Given the description of an element on the screen output the (x, y) to click on. 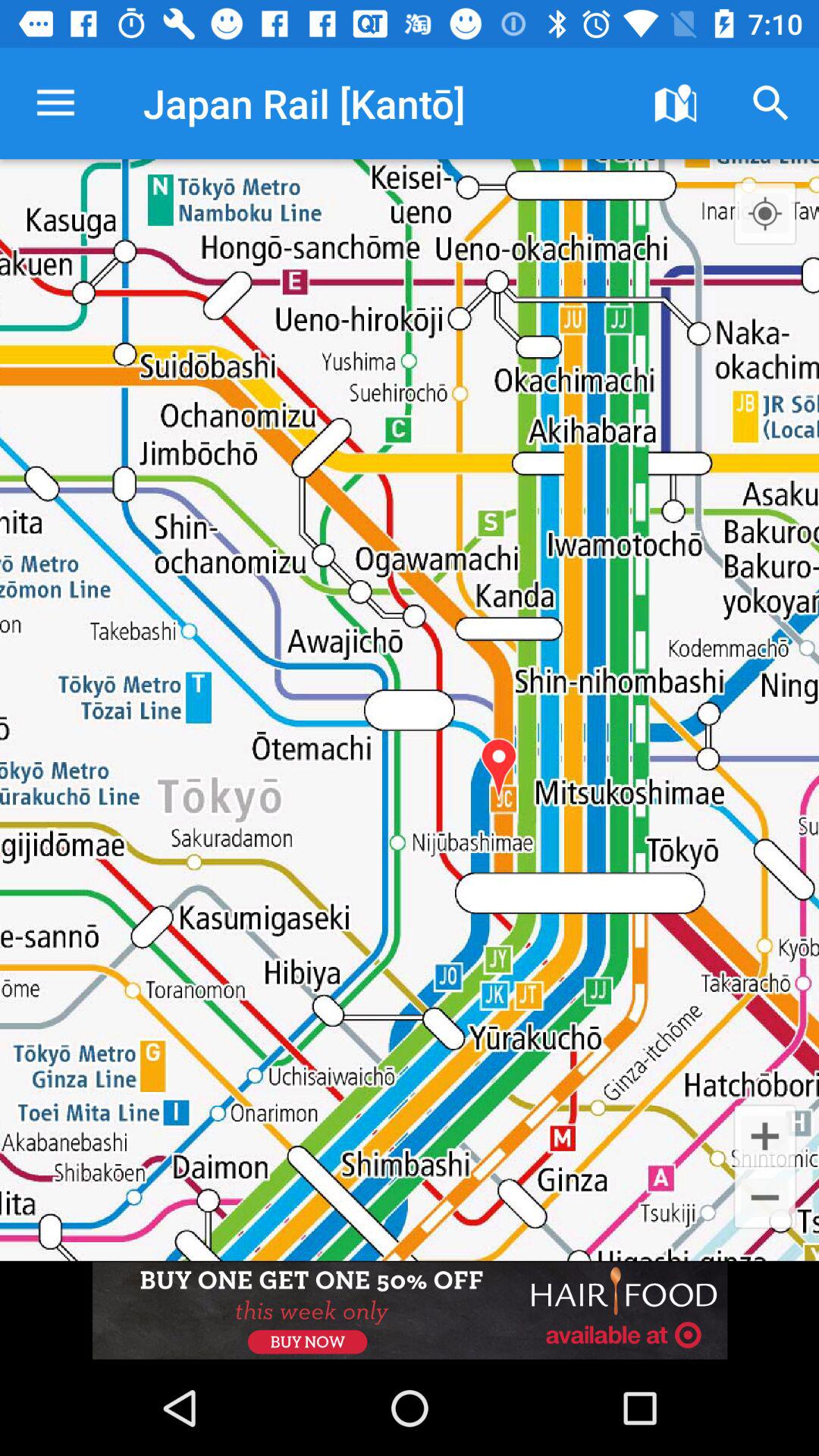
zoomout the page (764, 1197)
